Given the description of an element on the screen output the (x, y) to click on. 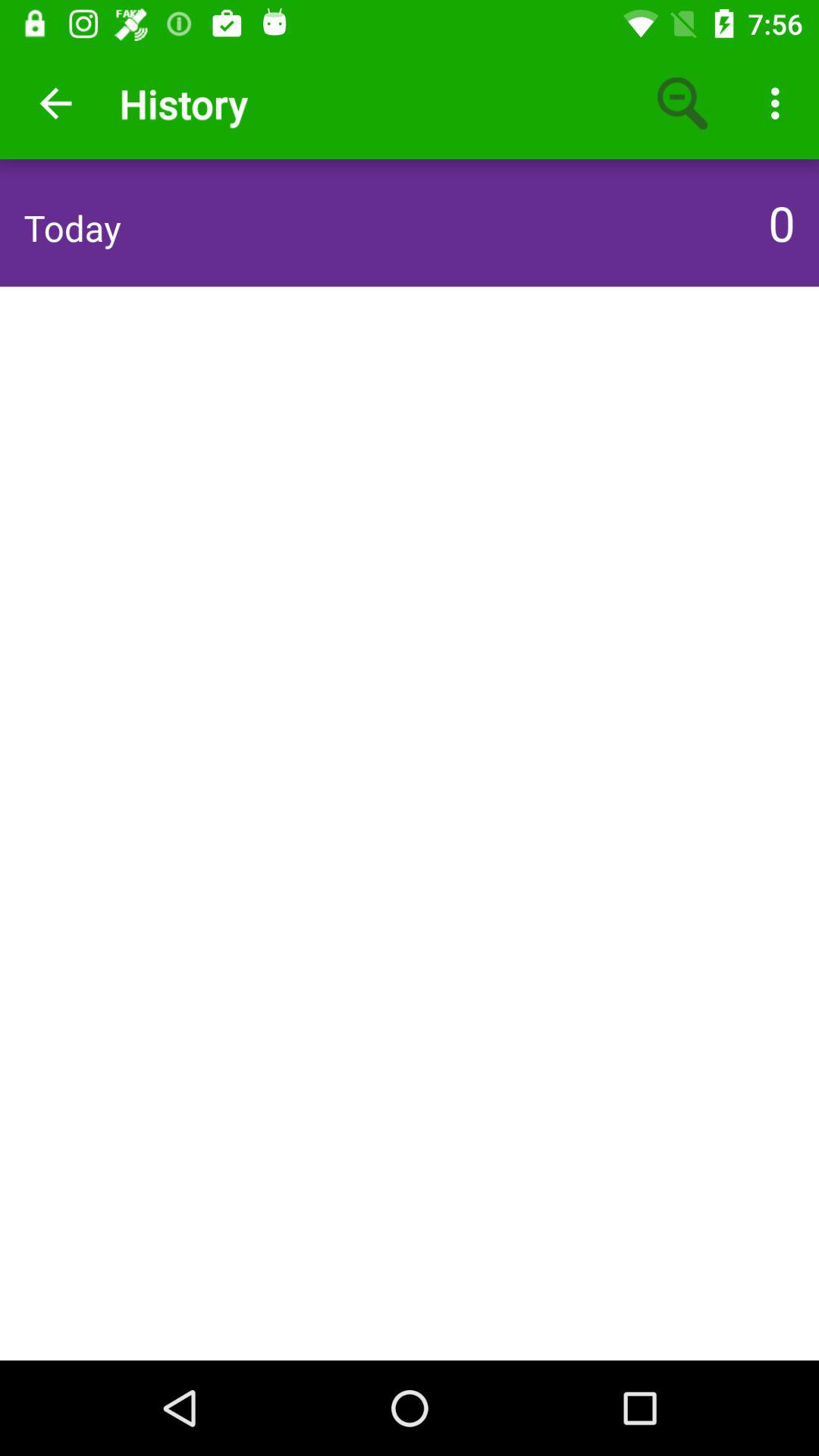
choose the item above the today icon (55, 103)
